Given the description of an element on the screen output the (x, y) to click on. 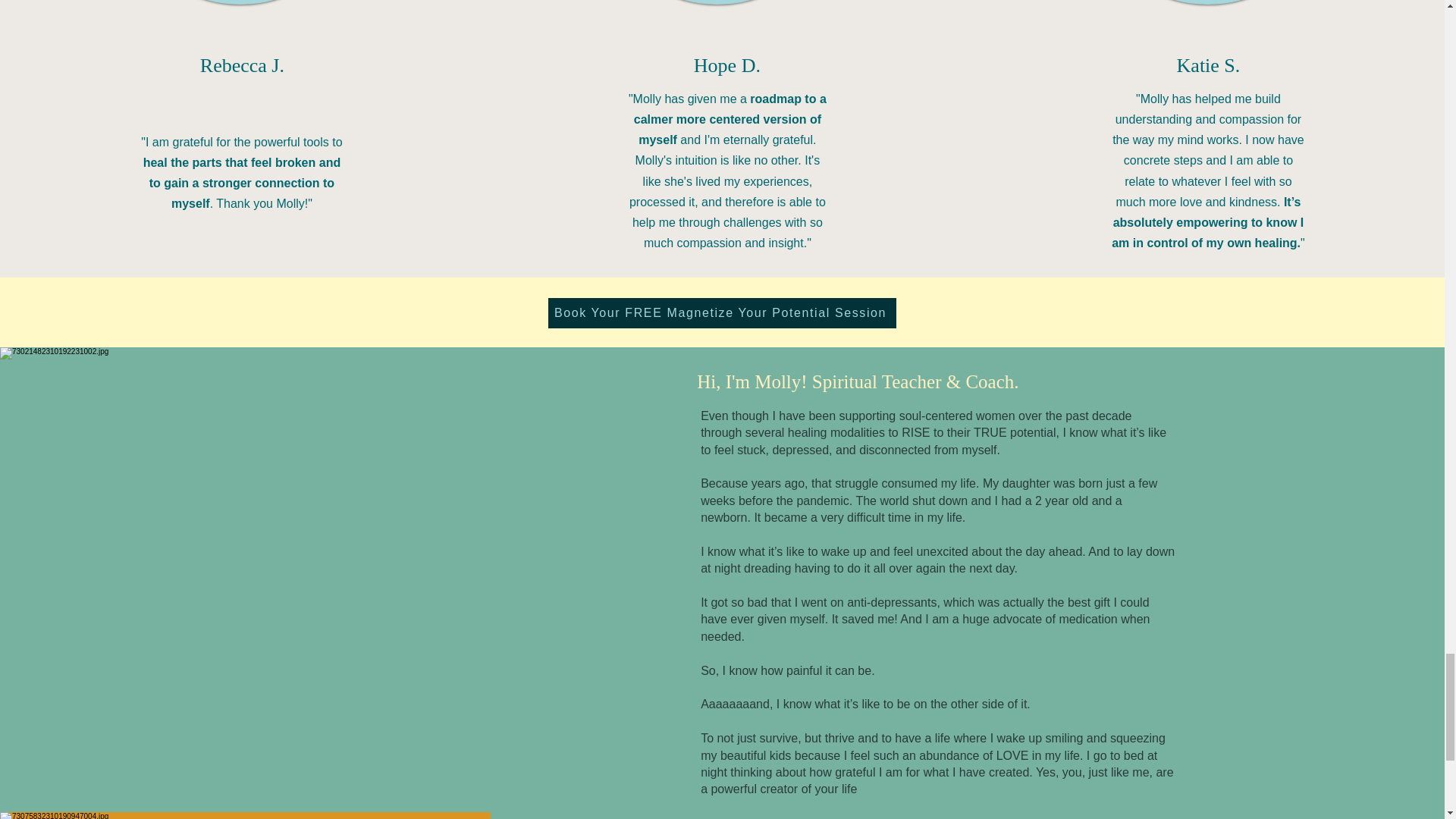
Book Your FREE Magnetize Your Potential Session (721, 313)
